Given the description of an element on the screen output the (x, y) to click on. 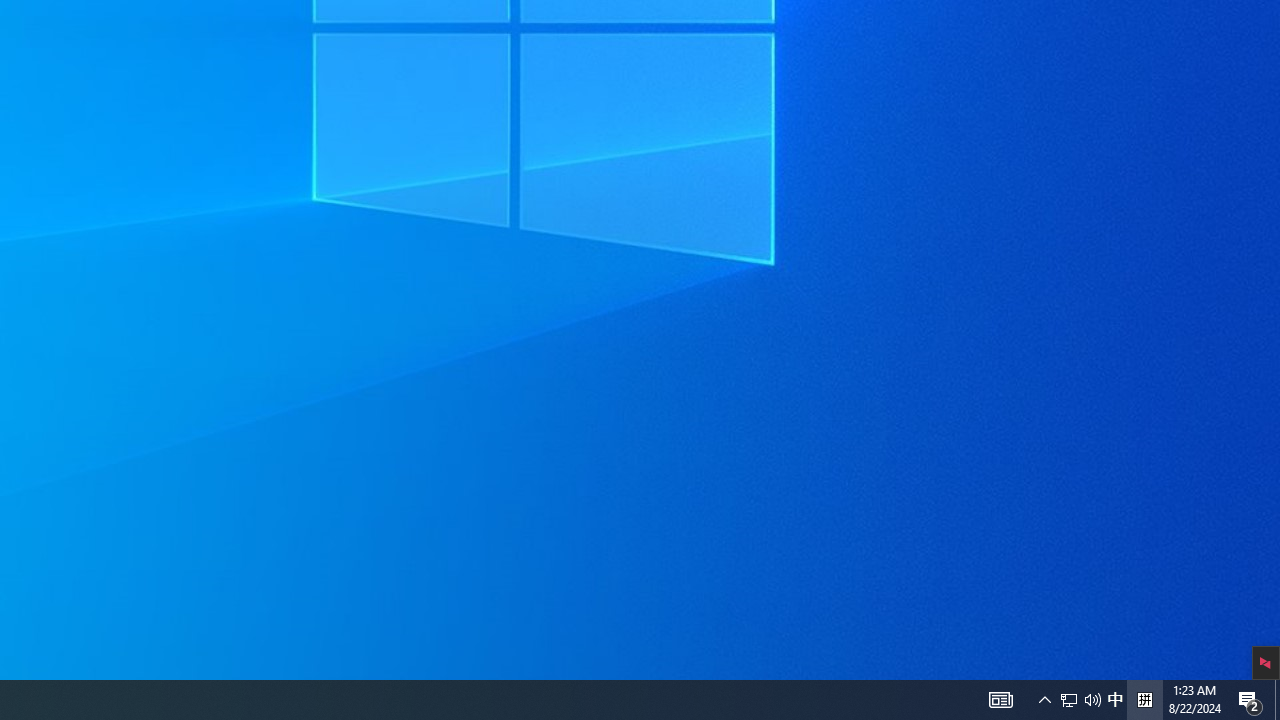
Show desktop (1115, 699)
AutomationID: 4105 (1277, 699)
Action Center, 2 new notifications (1000, 699)
Q2790: 100% (1250, 699)
Tray Input Indicator - Chinese (Simplified, China) (1092, 699)
User Promoted Notification Area (1069, 699)
Notification Chevron (1144, 699)
